Given the description of an element on the screen output the (x, y) to click on. 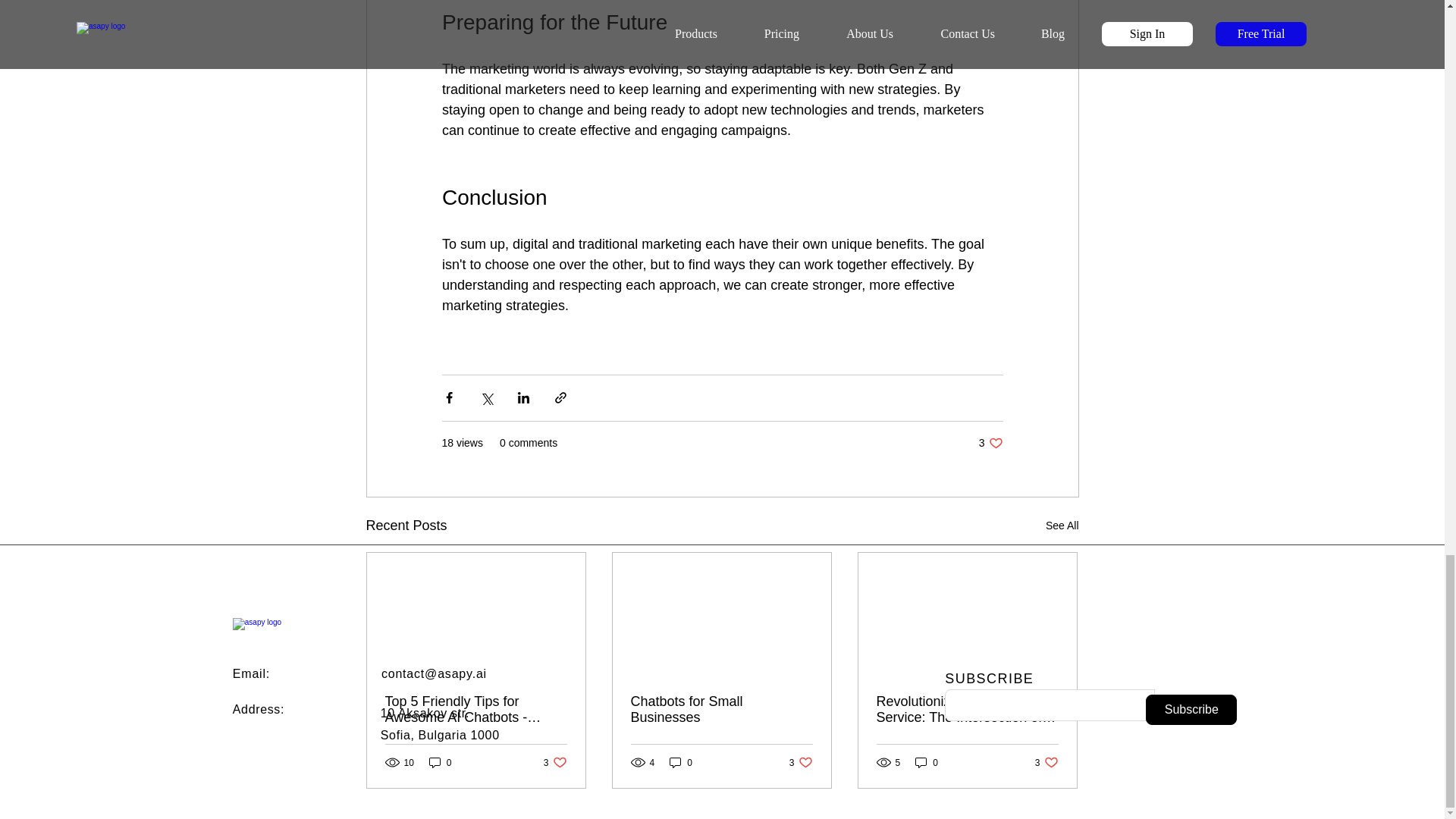
Subscribe (1190, 709)
0 (926, 762)
Address: (990, 442)
0 (1046, 762)
See All (257, 708)
0 (555, 762)
Chatbots for Small Businesses (681, 762)
